Given the description of an element on the screen output the (x, y) to click on. 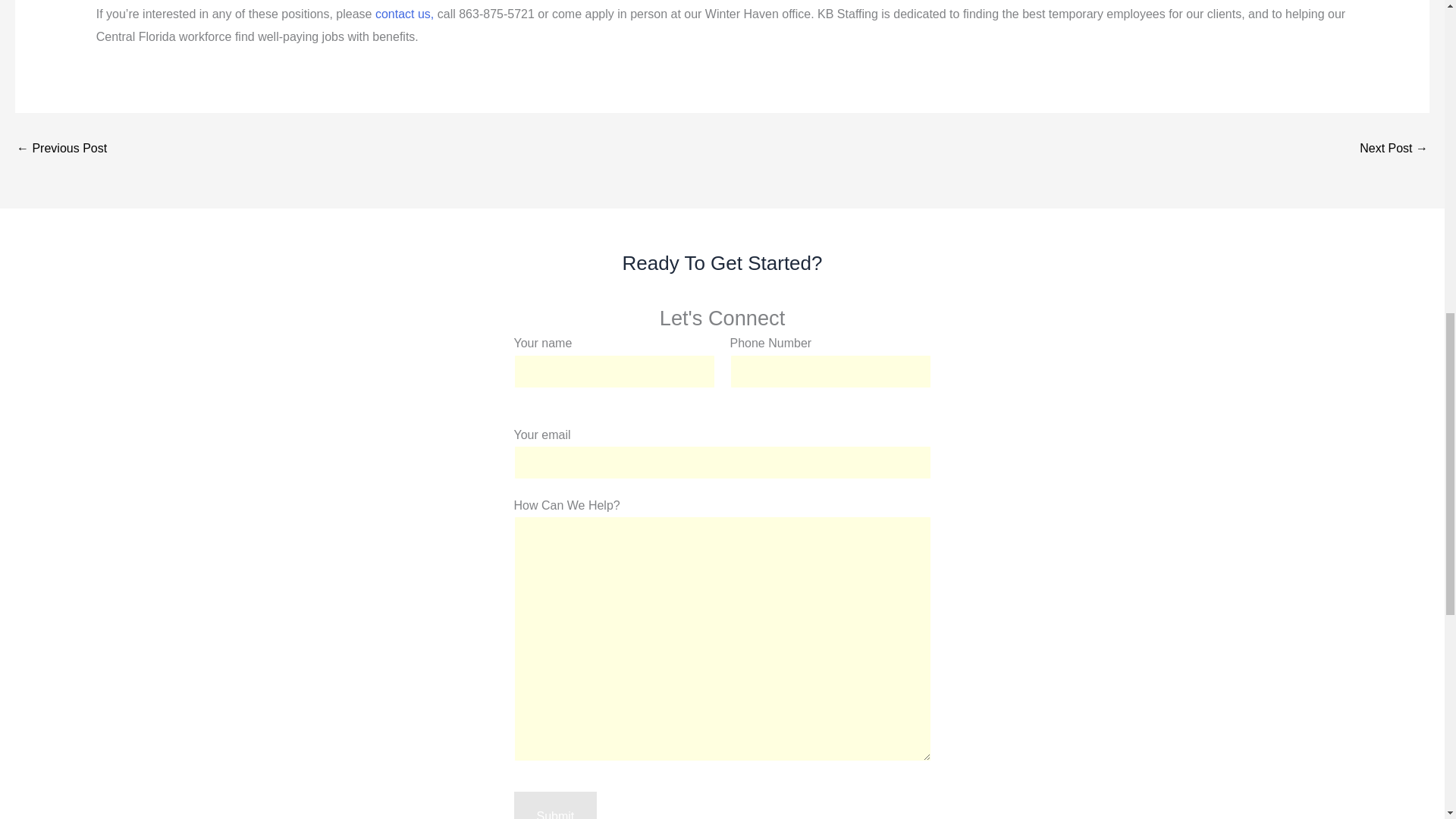
Submit (554, 805)
Submit (554, 805)
contact us, (404, 13)
